Given the description of an element on the screen output the (x, y) to click on. 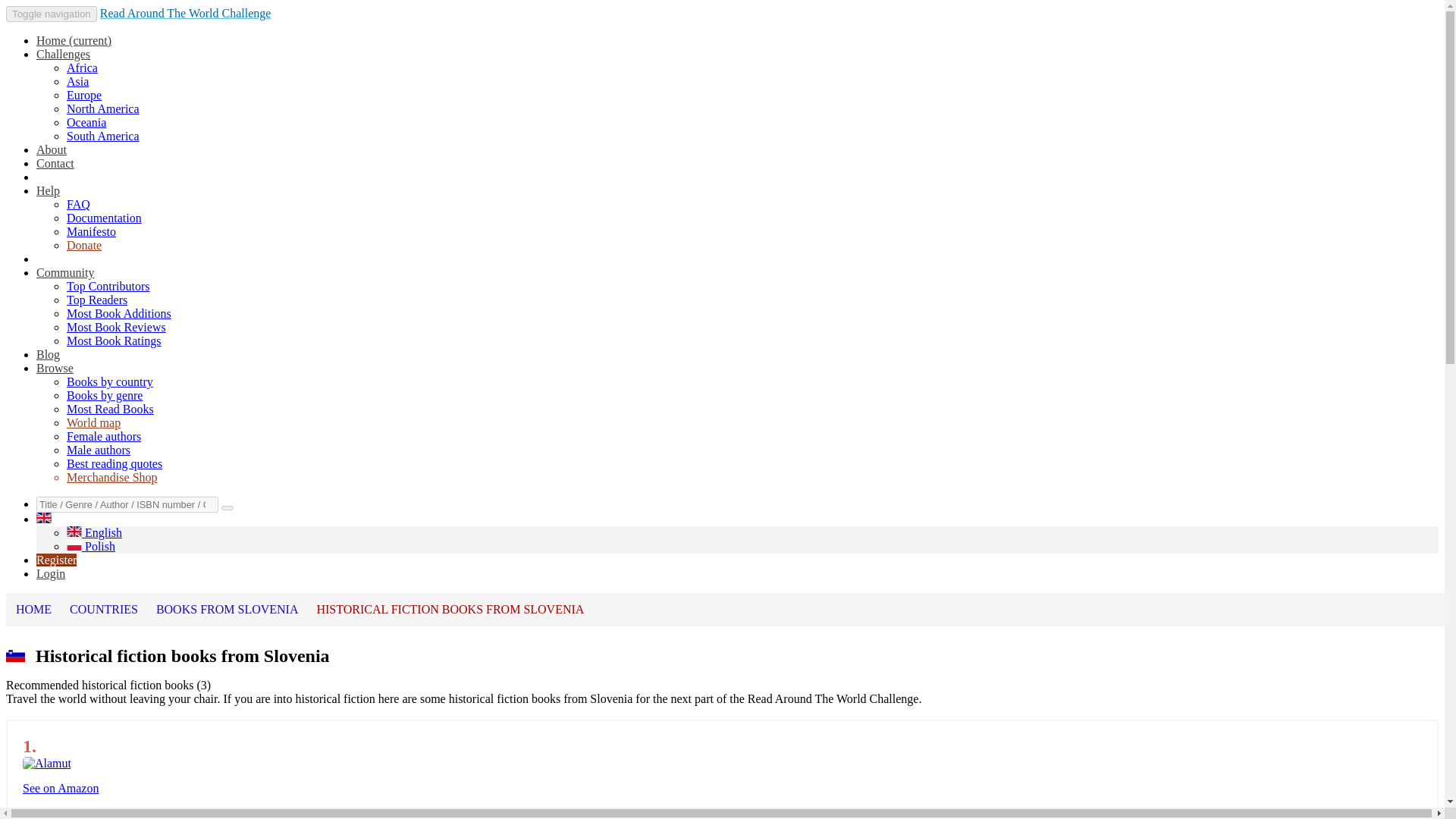
best reading quotes (113, 463)
Help (47, 190)
Blog (47, 354)
World map (93, 422)
Toggle navigation (51, 13)
Polish (90, 545)
Books by male author from around the world (98, 449)
See participants who have submitted the most book ratings (113, 340)
Read Around The World Challenge (185, 12)
Read the challenge Manifesto (91, 231)
Challenge countries (109, 381)
Most Read Books (110, 408)
Most Book Reviews (115, 327)
Click to see the most active challenge members (65, 272)
